Given the description of an element on the screen output the (x, y) to click on. 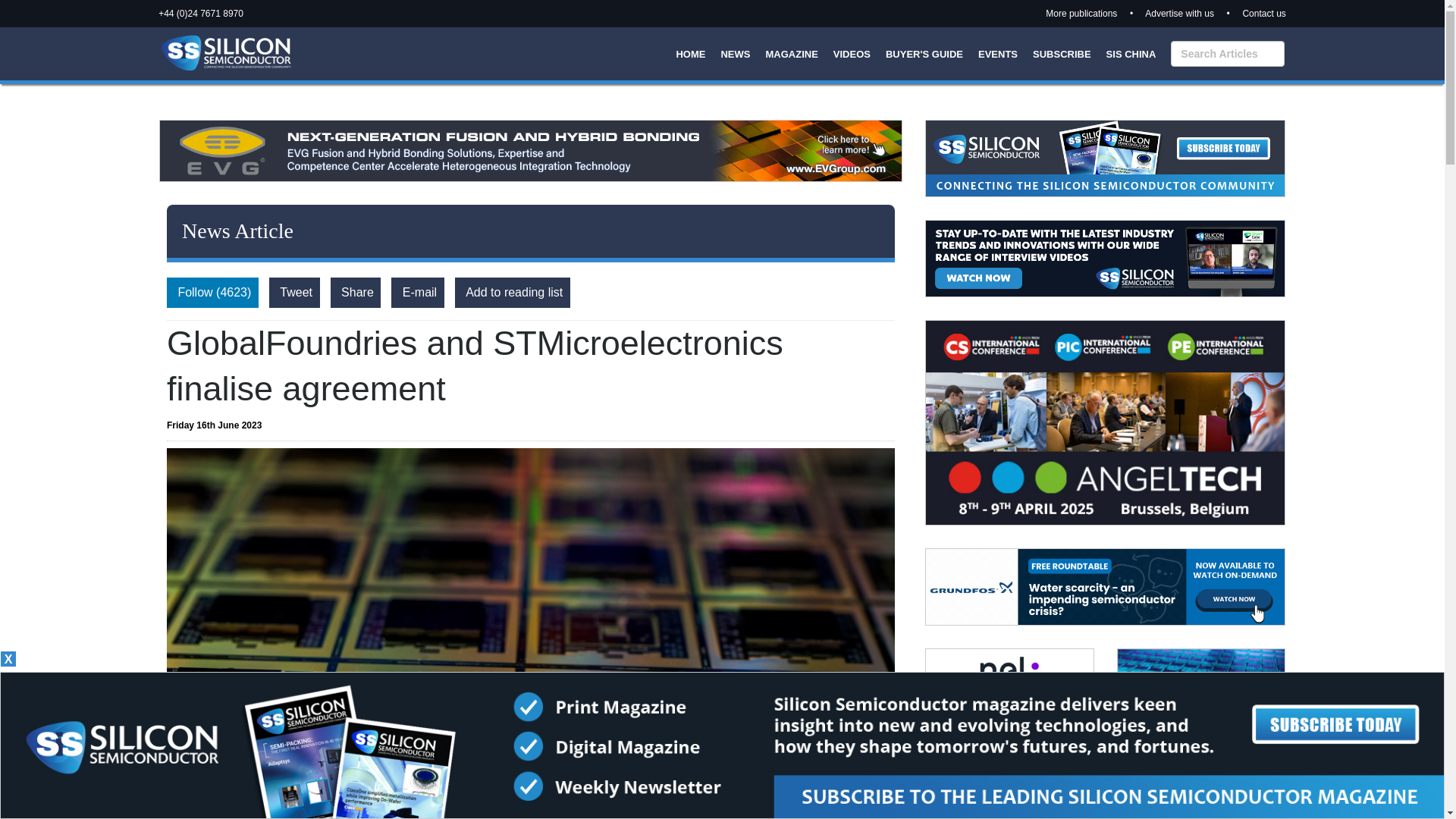
More publications (1080, 13)
MAGAZINE (790, 53)
SIS CHINA (1131, 53)
SUBSCRIBE (1061, 53)
HOME (689, 53)
EVENTS (997, 53)
Contact us (1263, 13)
Advertise with us (1179, 13)
Tweet (294, 292)
Share (355, 292)
BUYER'S GUIDE (923, 53)
VIDEOS (851, 53)
Add to reading list (511, 292)
E-mail (417, 292)
NEWS (734, 53)
